Given the description of an element on the screen output the (x, y) to click on. 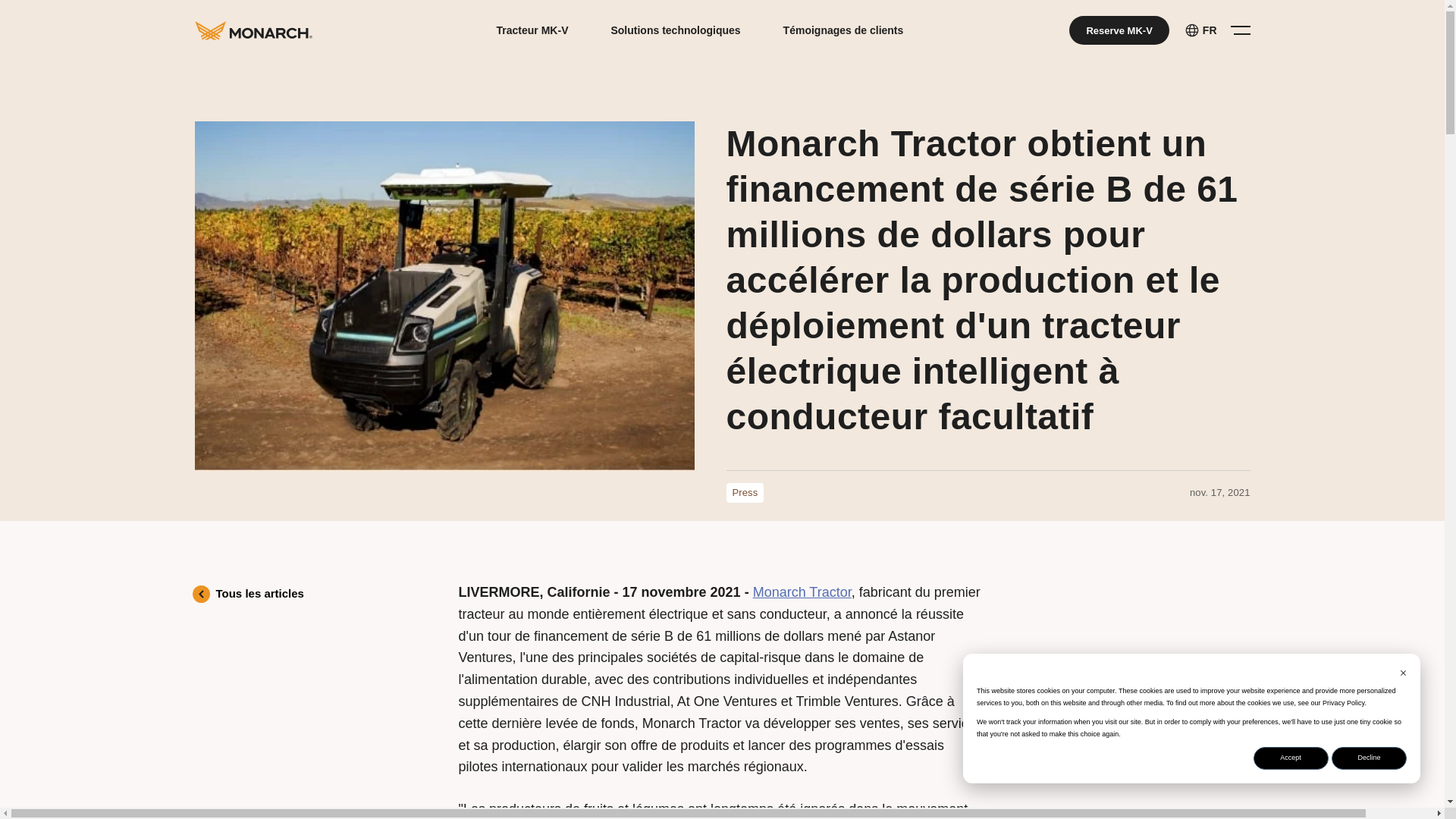
Tous les articles (250, 593)
Tracteur MK-V (532, 30)
Monarch Tractor (801, 591)
Open main menu (1236, 29)
Solutions technologiques (674, 30)
Reserve MK-V (1118, 30)
Press (745, 492)
FR (1200, 29)
